Given the description of an element on the screen output the (x, y) to click on. 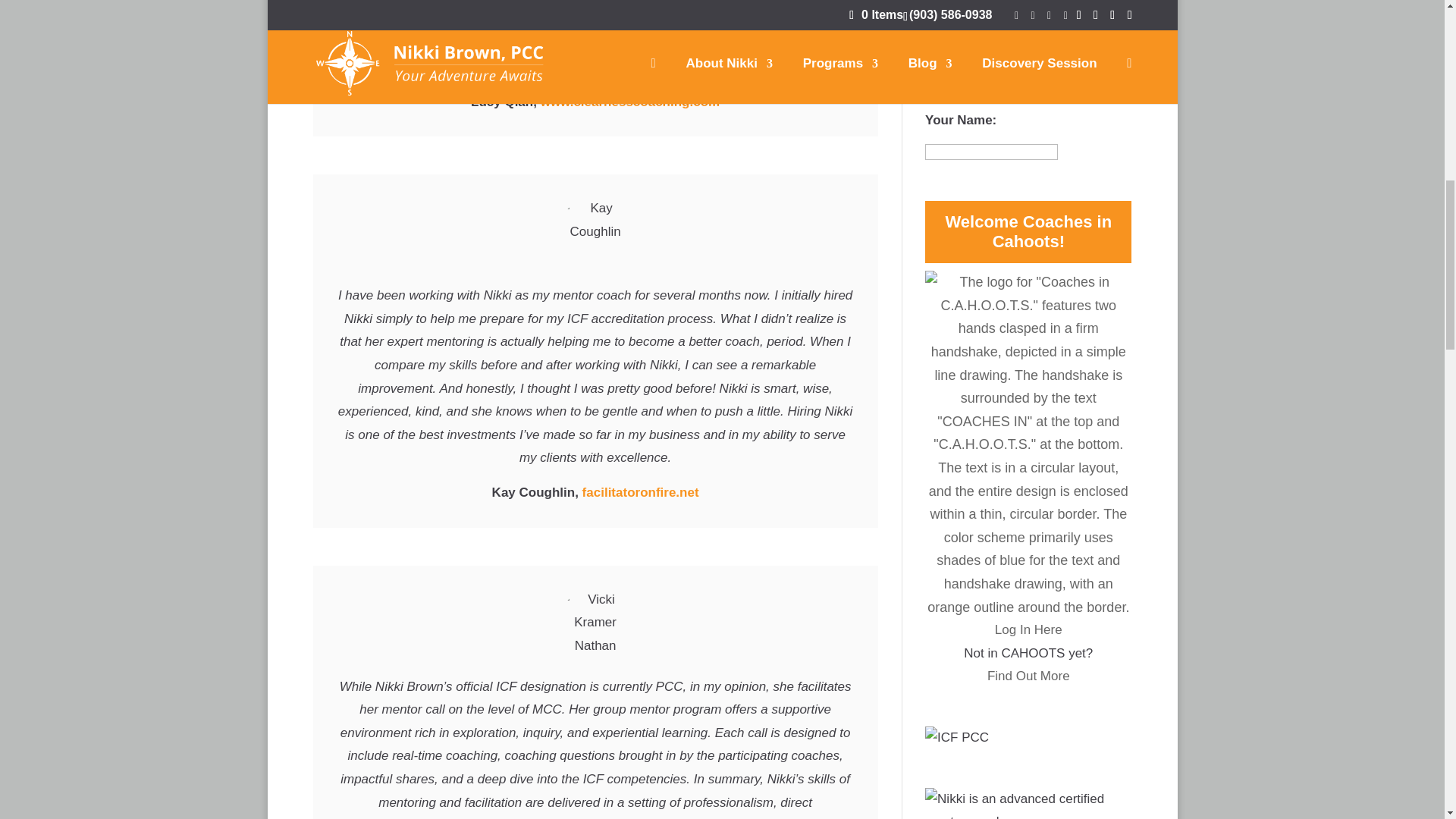
facilitatoronfire.net (640, 492)
www.clearnesscoaching.com (630, 101)
Other Amount (954, 89)
